Given the description of an element on the screen output the (x, y) to click on. 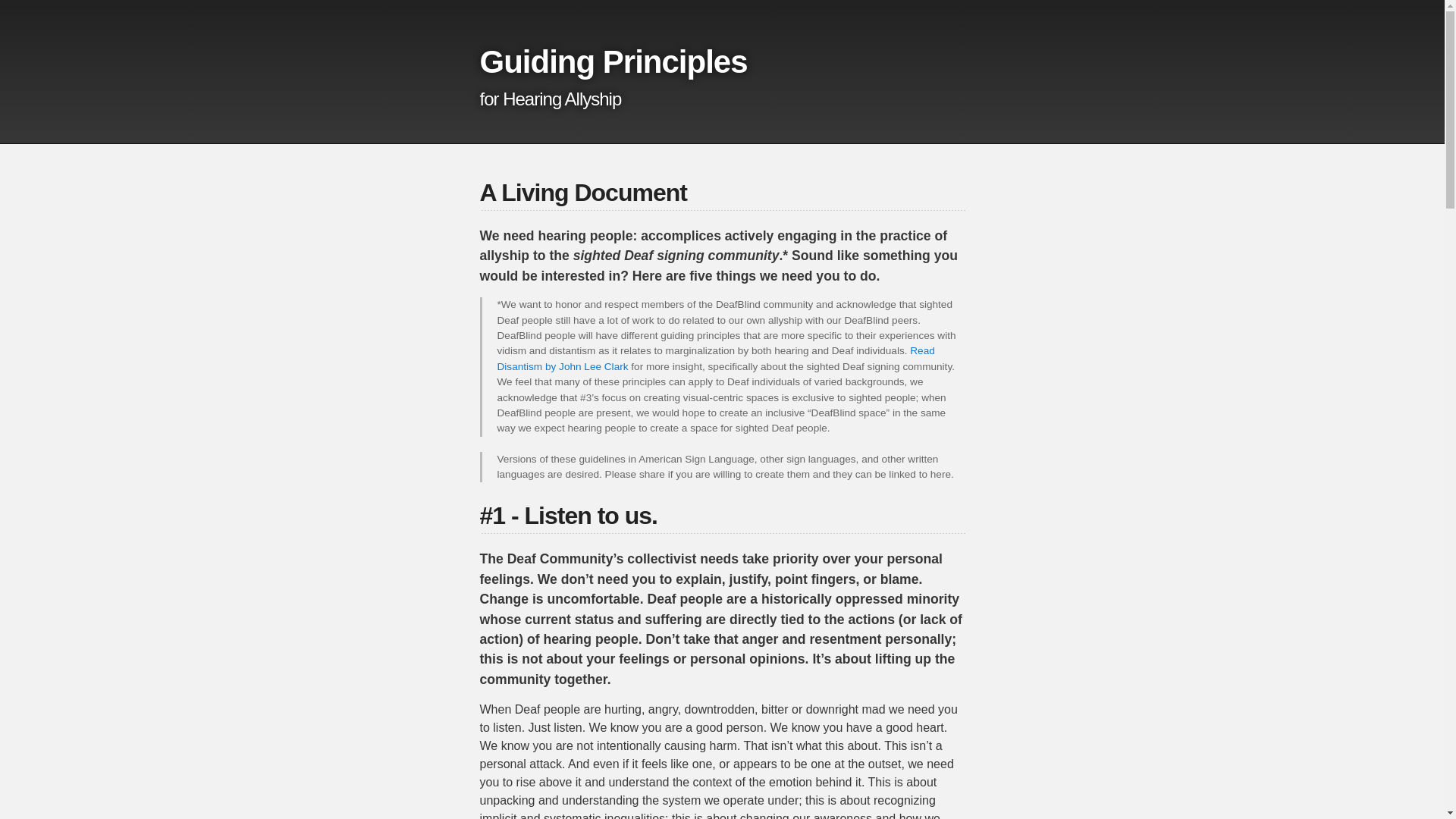
Read Disantism by John Lee Clark (715, 357)
